Given the description of an element on the screen output the (x, y) to click on. 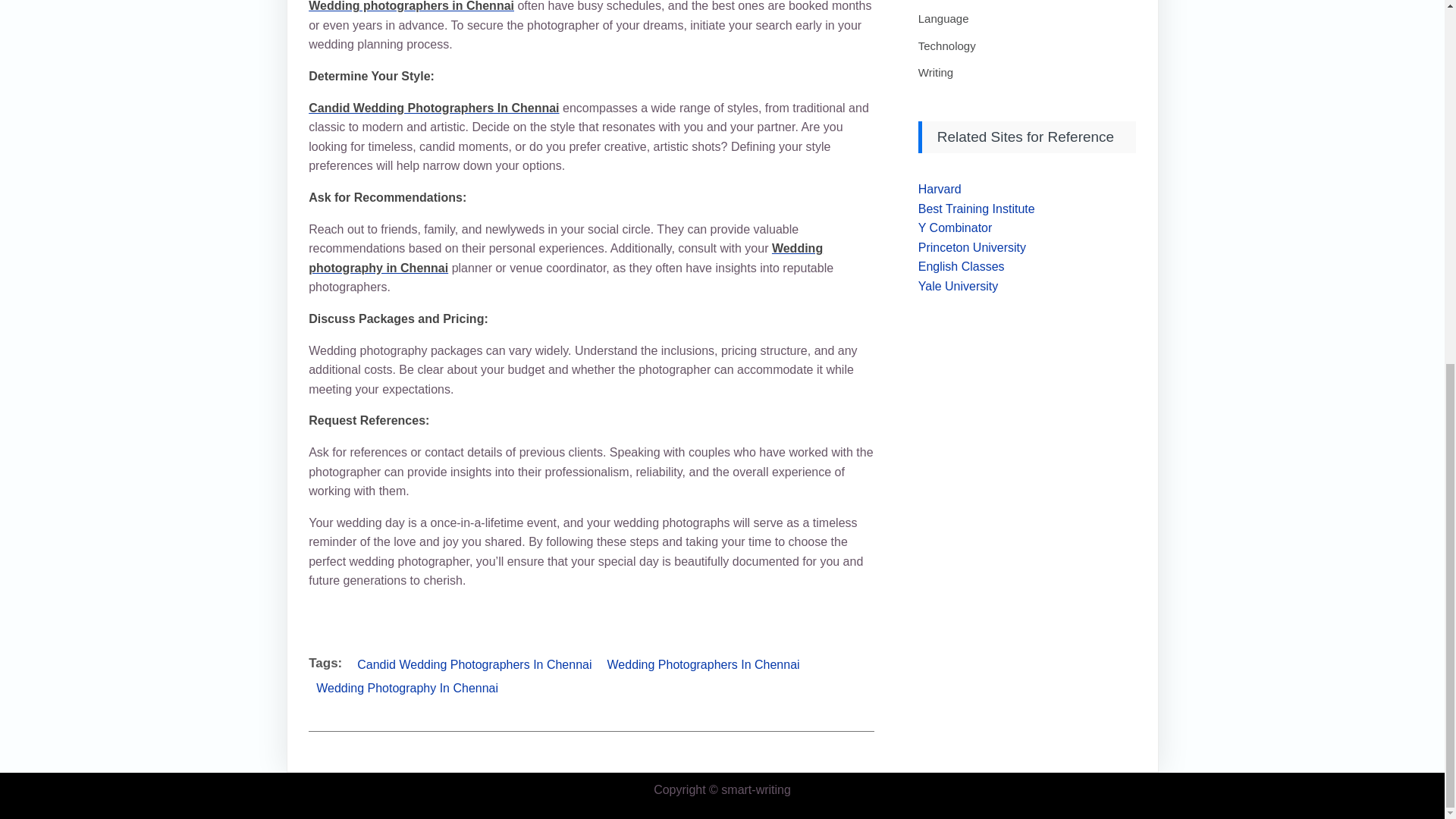
Wedding photography in Chennai (565, 257)
Candid Wedding Photographers In Chennai (473, 664)
Wedding Photographers In Chennai (703, 664)
Wedding photographers in Chennai (410, 6)
Y Combinator (955, 227)
Princeton University (972, 246)
Best Training Institute (976, 208)
Harvard (939, 188)
Technology (946, 45)
Wedding Photography In Chennai (406, 688)
Candid Wedding Photographers In Chennai (433, 107)
Writing (935, 72)
Language (943, 18)
